Given the description of an element on the screen output the (x, y) to click on. 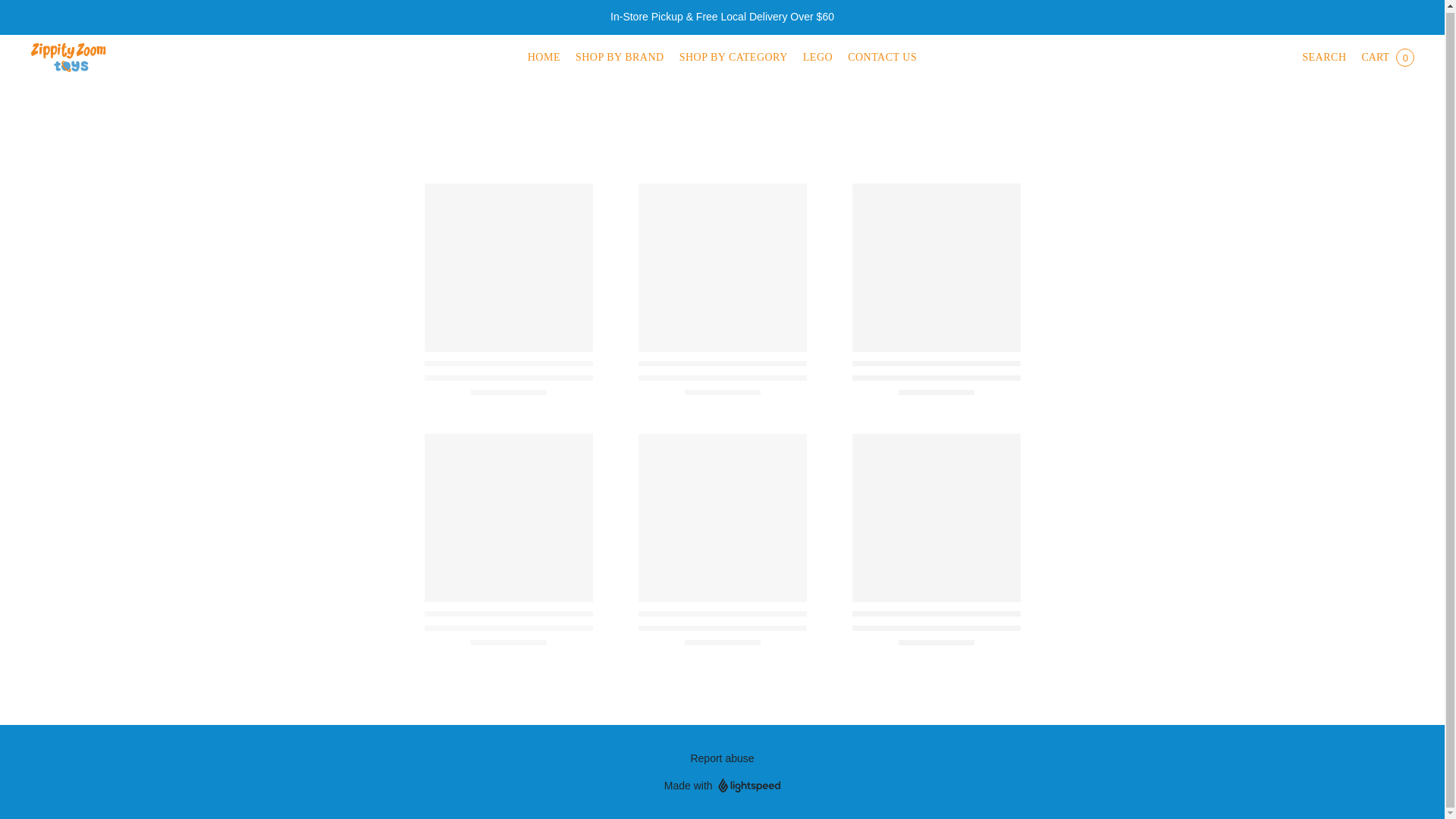
SEARCH (1323, 57)
Search the website (1323, 57)
CONTACT US (878, 57)
SHOP BY BRAND (619, 57)
SHOP BY CATEGORY (732, 57)
LEGO (817, 57)
CART (1387, 57)
Report abuse (722, 758)
HOME (547, 57)
Made with (721, 785)
Go to your shopping cart (1387, 57)
